Given the description of an element on the screen output the (x, y) to click on. 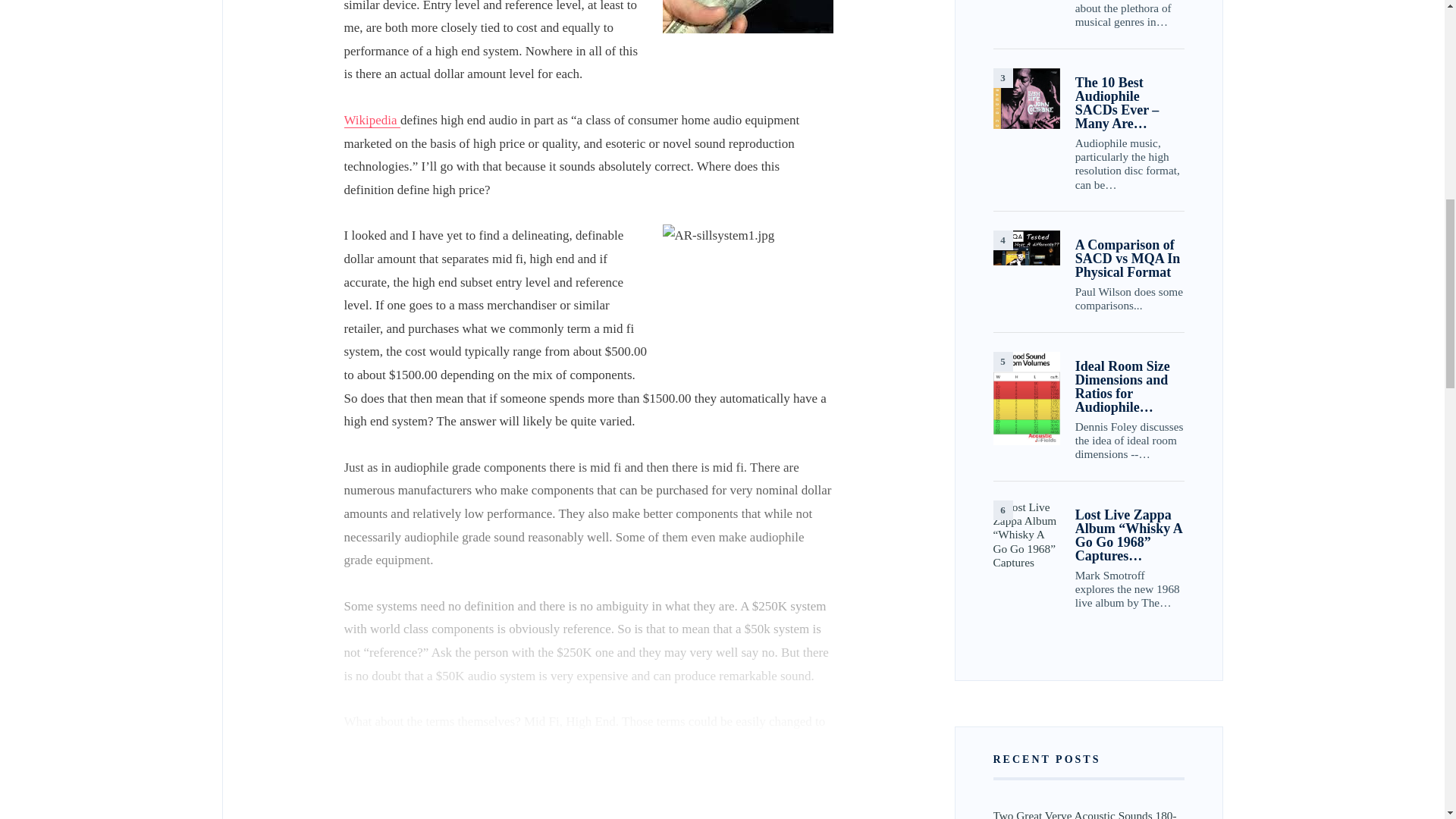
Wikipedia (371, 120)
A Comparison of SACD vs MQA In Physical Format (1025, 247)
The 10 Best Audiophile SACDs Ever - Many Are Out Of Print (1025, 98)
